Given the description of an element on the screen output the (x, y) to click on. 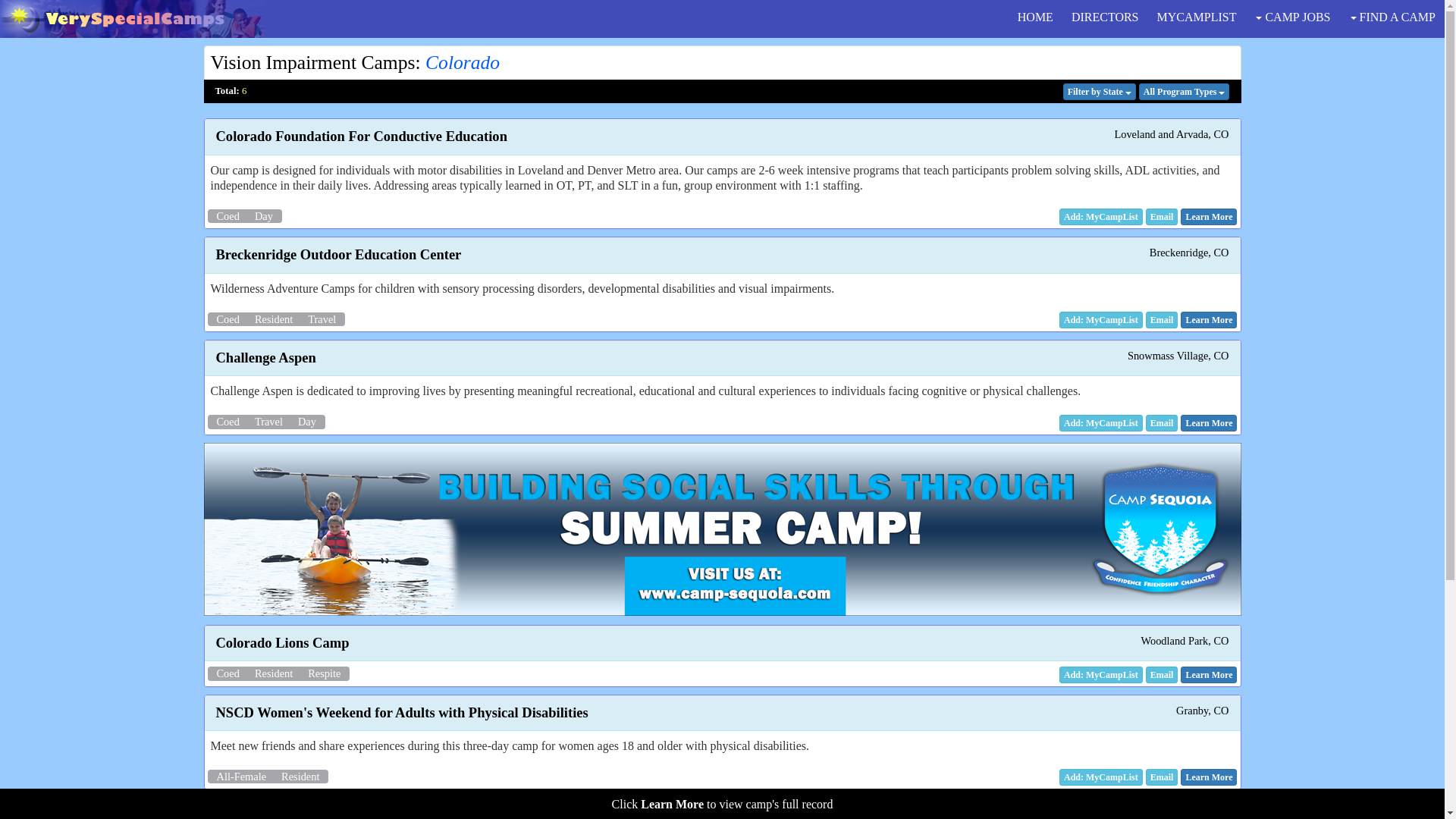
Add: MyCampList (1100, 674)
Add: MyCampList (1100, 320)
Colorado (462, 62)
HOME (1035, 16)
MYCAMPLIST (1197, 16)
Add: MyCampList (1100, 216)
Filter by State (1098, 91)
Vision Impairment Camps (312, 62)
CAMP JOBS (1291, 16)
Add: MyCampList (1100, 777)
Add: MyCampList (1100, 422)
DIRECTORS (1105, 16)
